Given the description of an element on the screen output the (x, y) to click on. 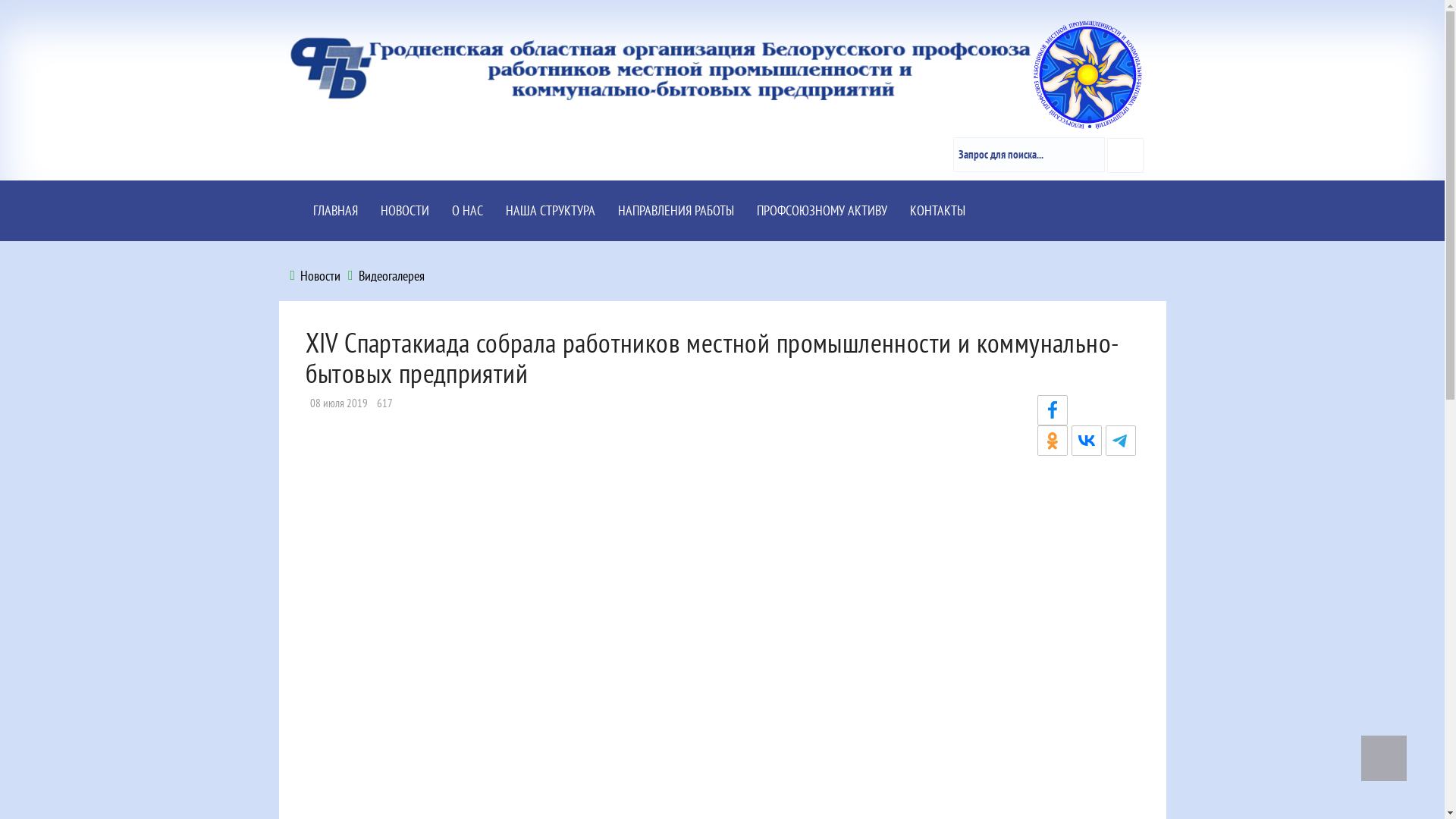
Telegram Element type: hover (1120, 440)
